Given the description of an element on the screen output the (x, y) to click on. 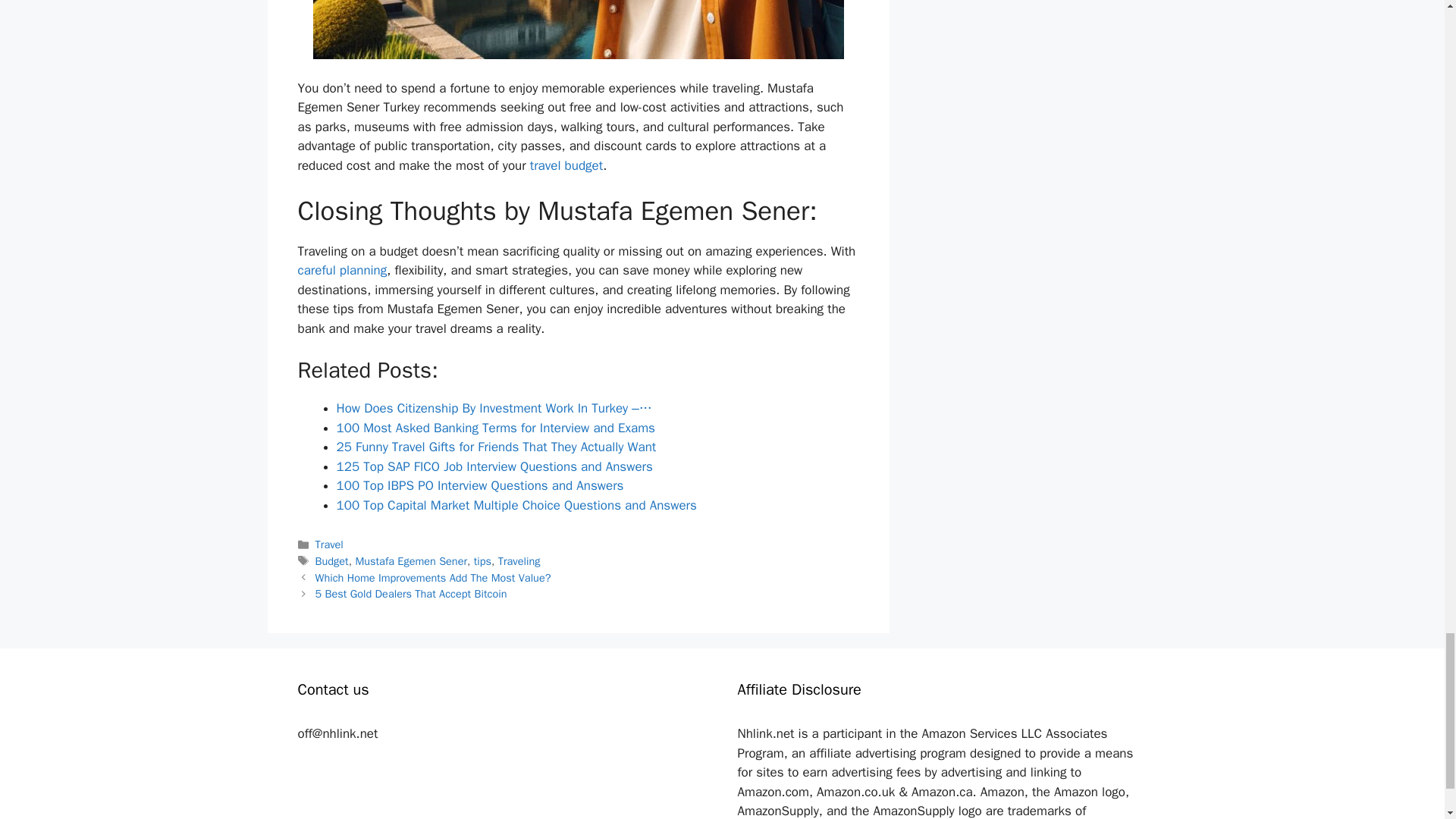
careful planning (342, 270)
100 Most Asked Banking Terms for Interview and Exams (495, 427)
travel budget (565, 165)
5 Best Gold Dealers That Accept Bitcoin (410, 593)
25 Funny Travel Gifts for Friends That They Actually Want (496, 446)
Mustafa Egemen Sener (411, 561)
100 Top IBPS PO Interview Questions and Answers (480, 485)
Traveling (518, 561)
Which Home Improvements Add The Most Value? (433, 577)
Budget (332, 561)
